Given the description of an element on the screen output the (x, y) to click on. 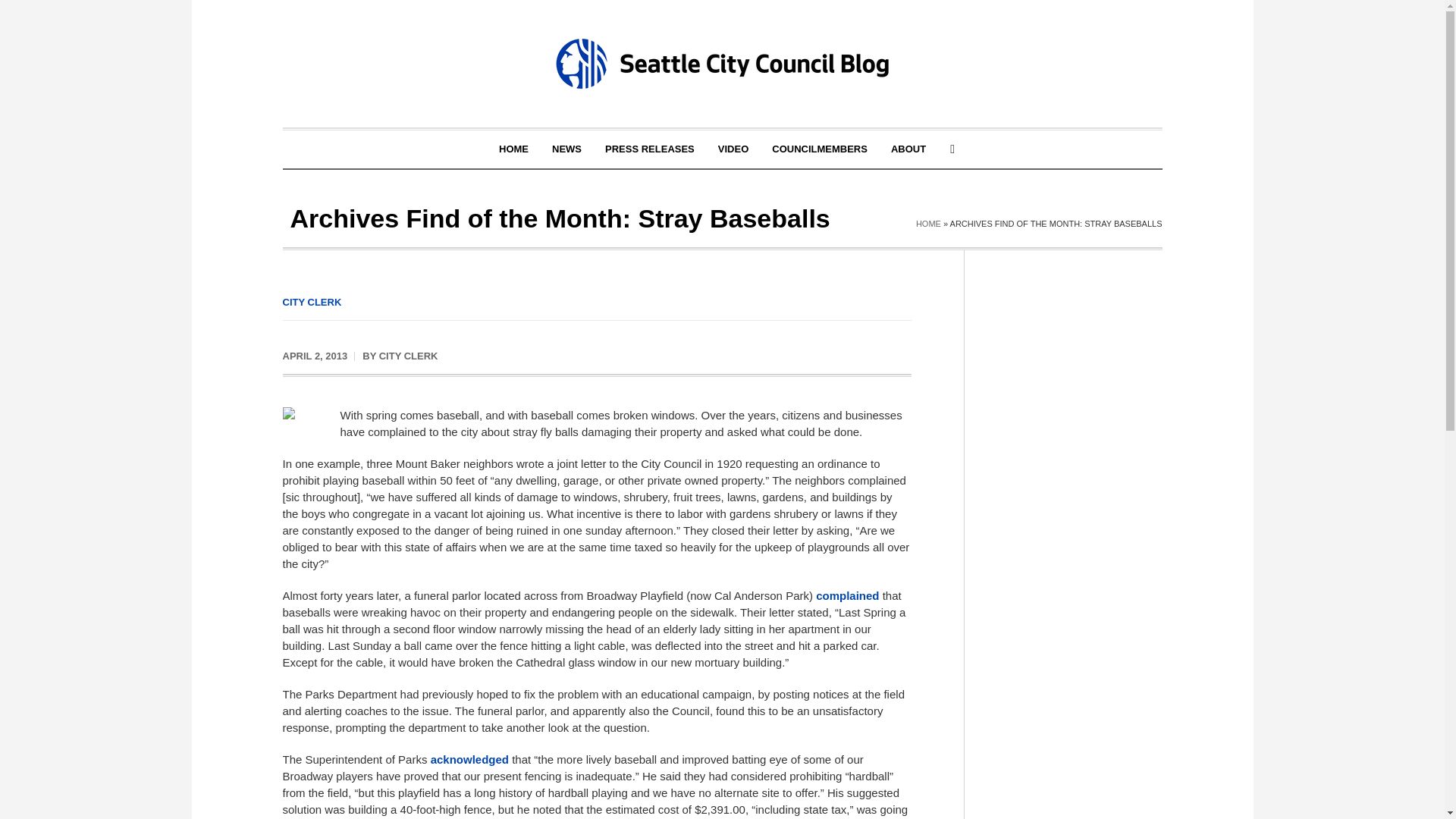
VIDEO (733, 149)
HOME (927, 223)
HOME (513, 149)
CITY CLERK (311, 301)
April 2, 2013 (314, 356)
COUNCILMEMBERS (819, 149)
acknowledged (469, 758)
CITY CLERK (408, 355)
NEWS (566, 149)
ABOUT (908, 149)
Posts by City Clerk (408, 355)
complained (847, 594)
PRESS RELEASES (650, 149)
